Given the description of an element on the screen output the (x, y) to click on. 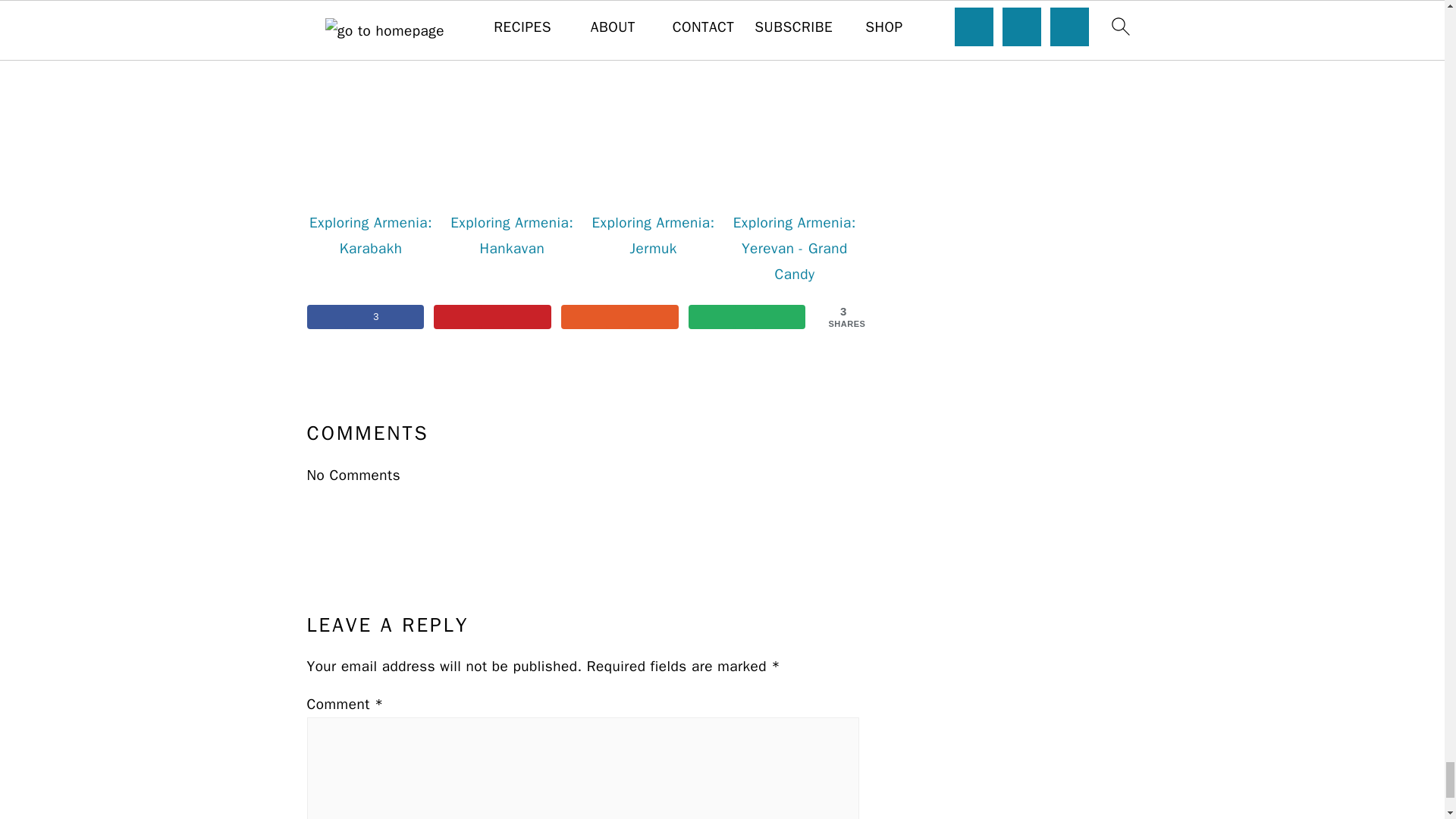
Save to Pinterest (492, 316)
Share on Facebook (364, 316)
Share on Yummly (619, 316)
Send over email (747, 316)
